Given the description of an element on the screen output the (x, y) to click on. 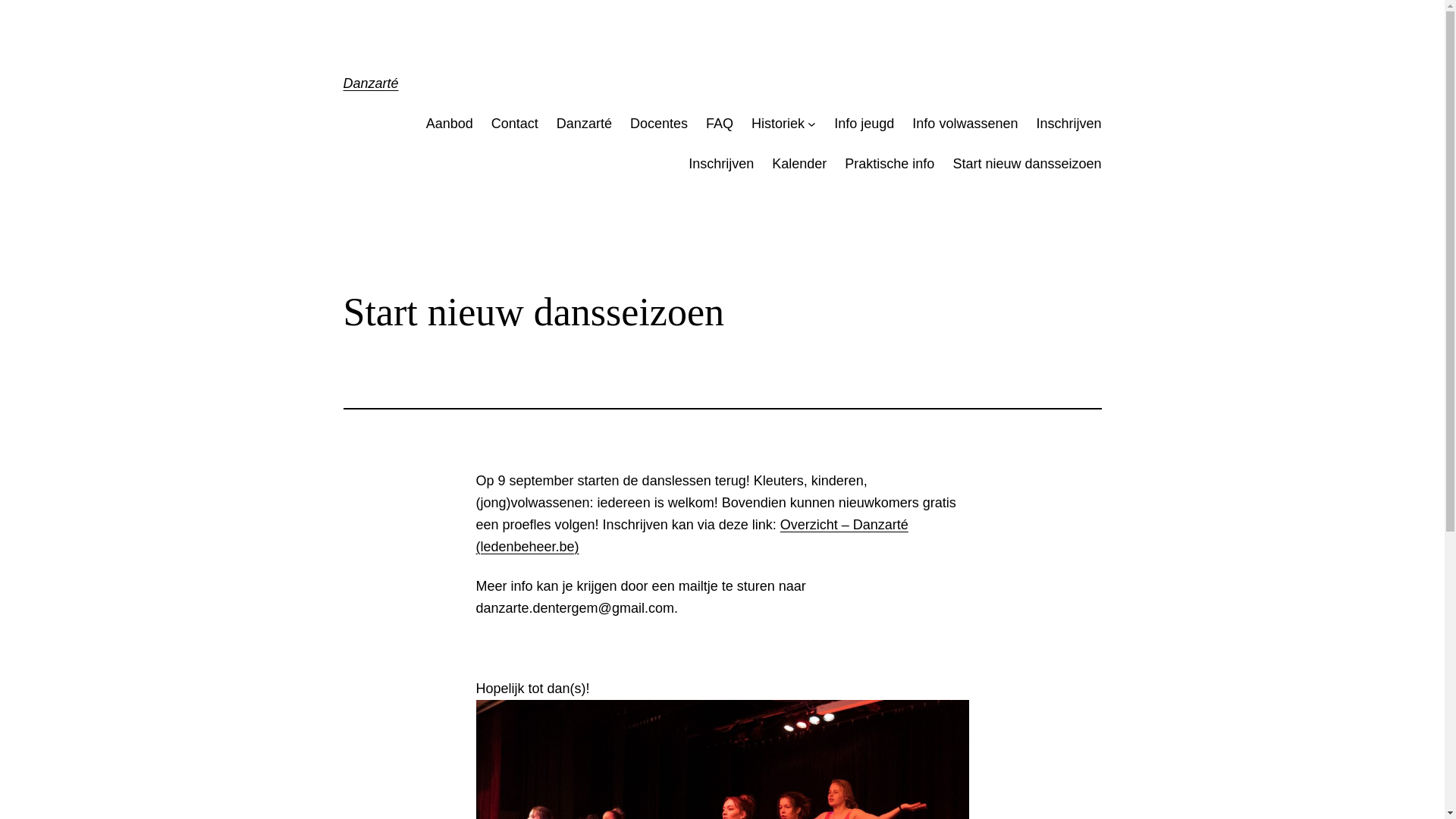
Inschrijven Element type: text (1068, 123)
Info volwassenen Element type: text (964, 123)
Contact Element type: text (514, 123)
FAQ Element type: text (719, 123)
Start nieuw dansseizoen Element type: text (1026, 164)
Aanbod Element type: text (449, 123)
Inschrijven Element type: text (720, 164)
Praktische info Element type: text (889, 164)
Kalender Element type: text (798, 164)
Info jeugd Element type: text (864, 123)
Docentes Element type: text (658, 123)
Historiek Element type: text (777, 123)
